Given the description of an element on the screen output the (x, y) to click on. 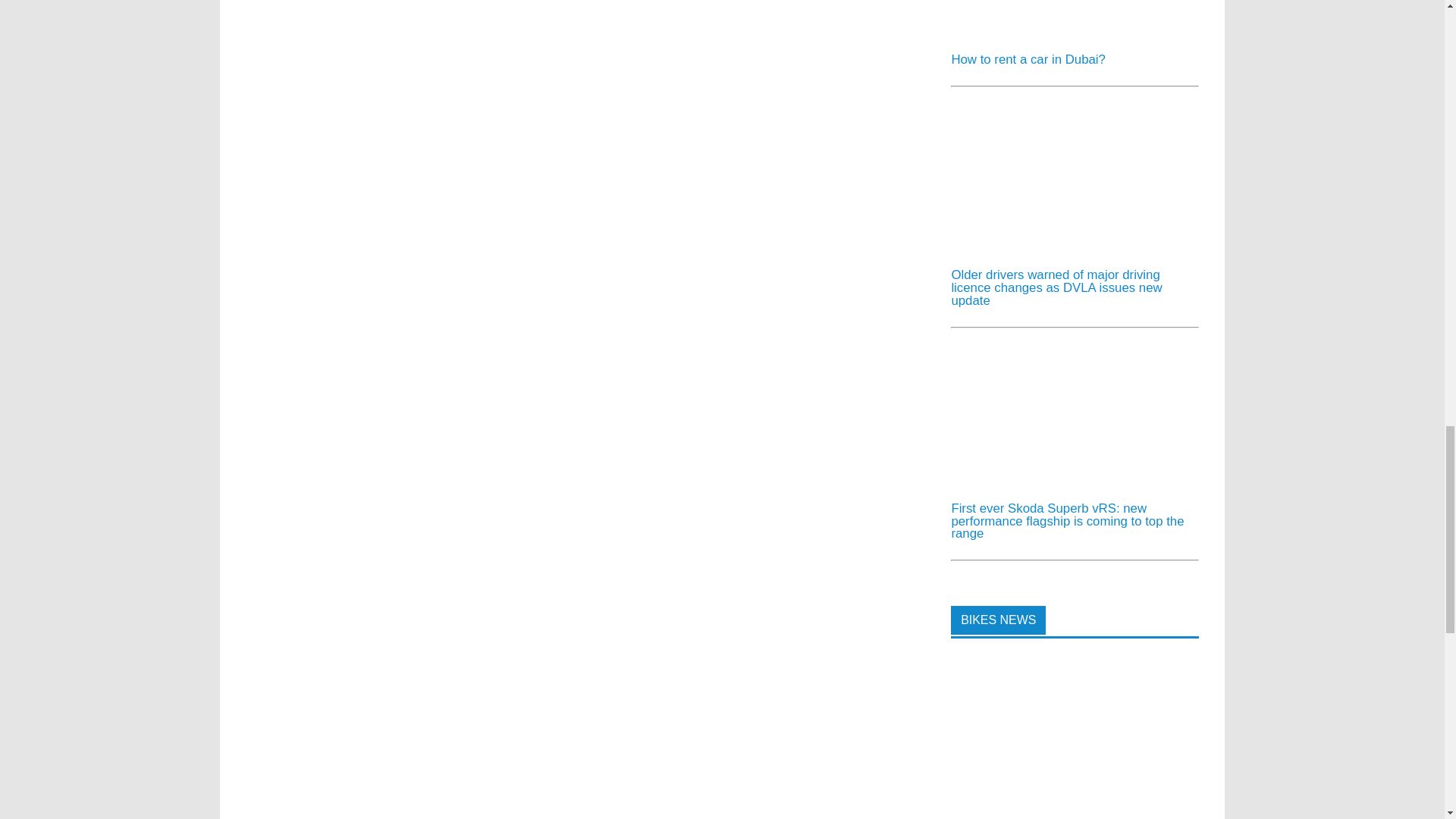
How to rent a car in Dubai? (1063, 34)
How to rent a car in Dubai? (1027, 59)
